Given the description of an element on the screen output the (x, y) to click on. 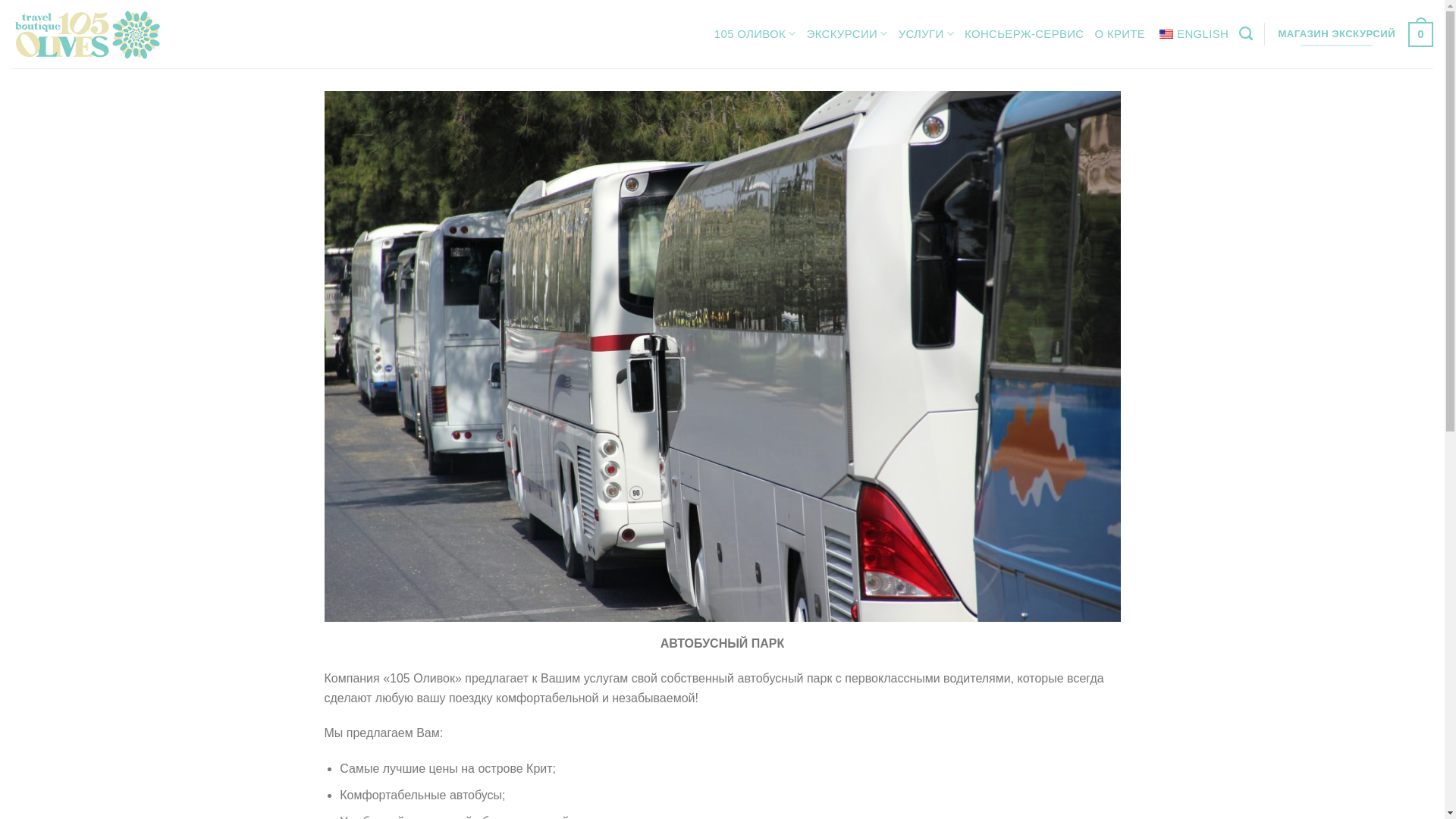
Skip to content Element type: text (0, 0)
English Element type: hover (1166, 33)
0 Element type: text (1420, 33)
ENGLISH Element type: text (1191, 33)
